Given the description of an element on the screen output the (x, y) to click on. 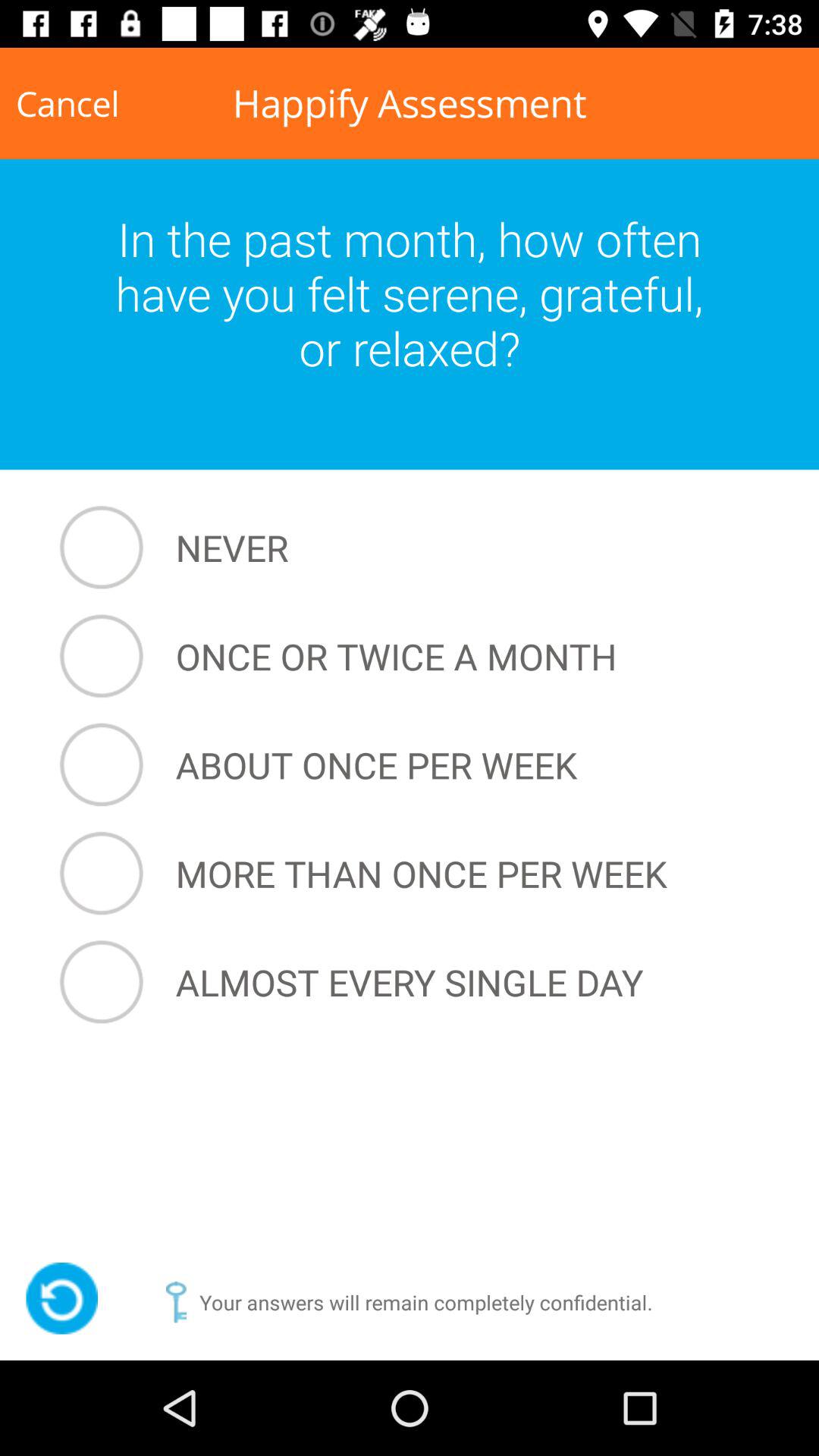
click the radio button which is below the never (413, 655)
click on more than once per week (413, 873)
